Given the description of an element on the screen output the (x, y) to click on. 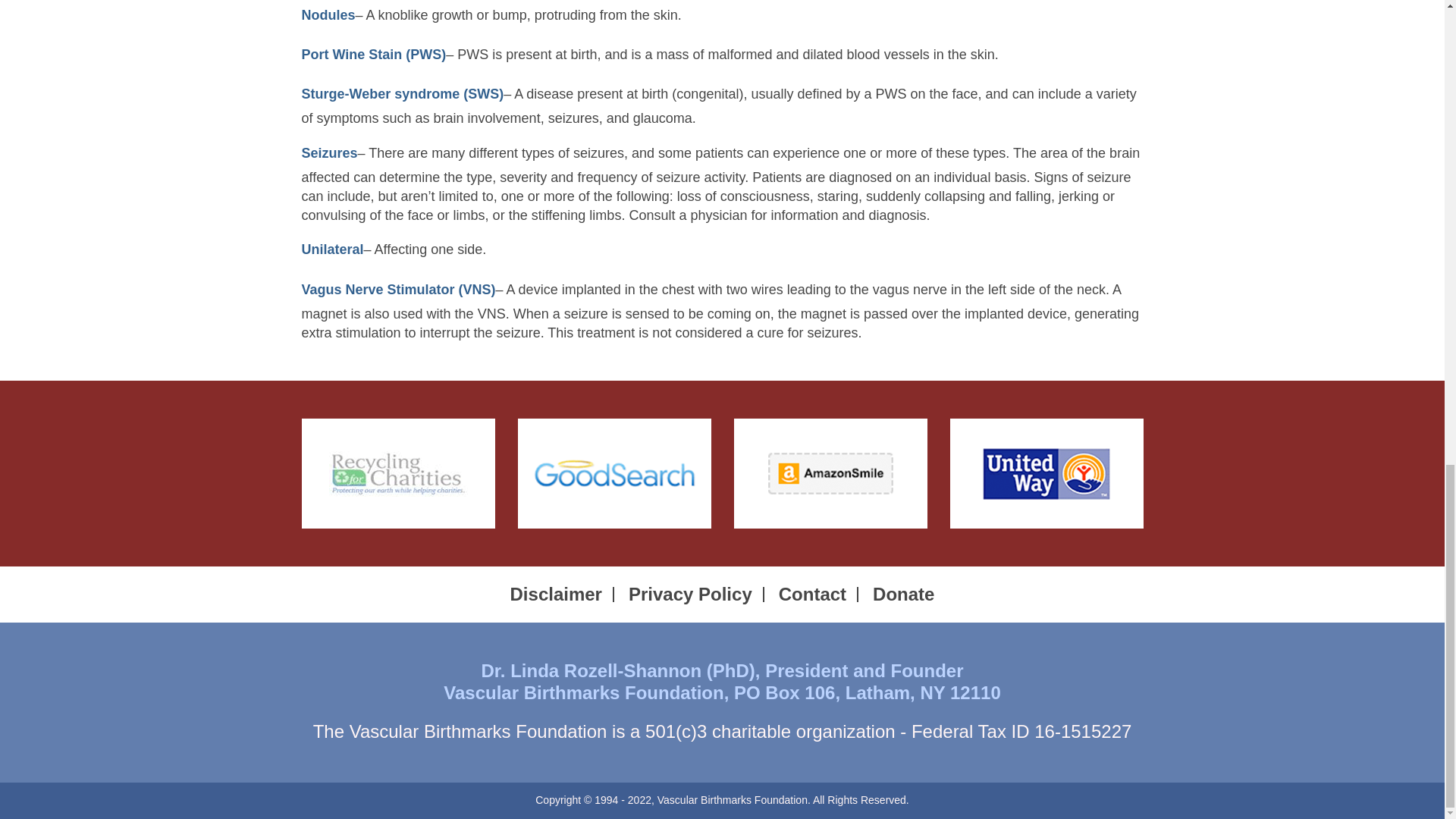
Disclaimer (556, 593)
Donate (903, 593)
Contact (811, 593)
Privacy Policy (690, 593)
